Given the description of an element on the screen output the (x, y) to click on. 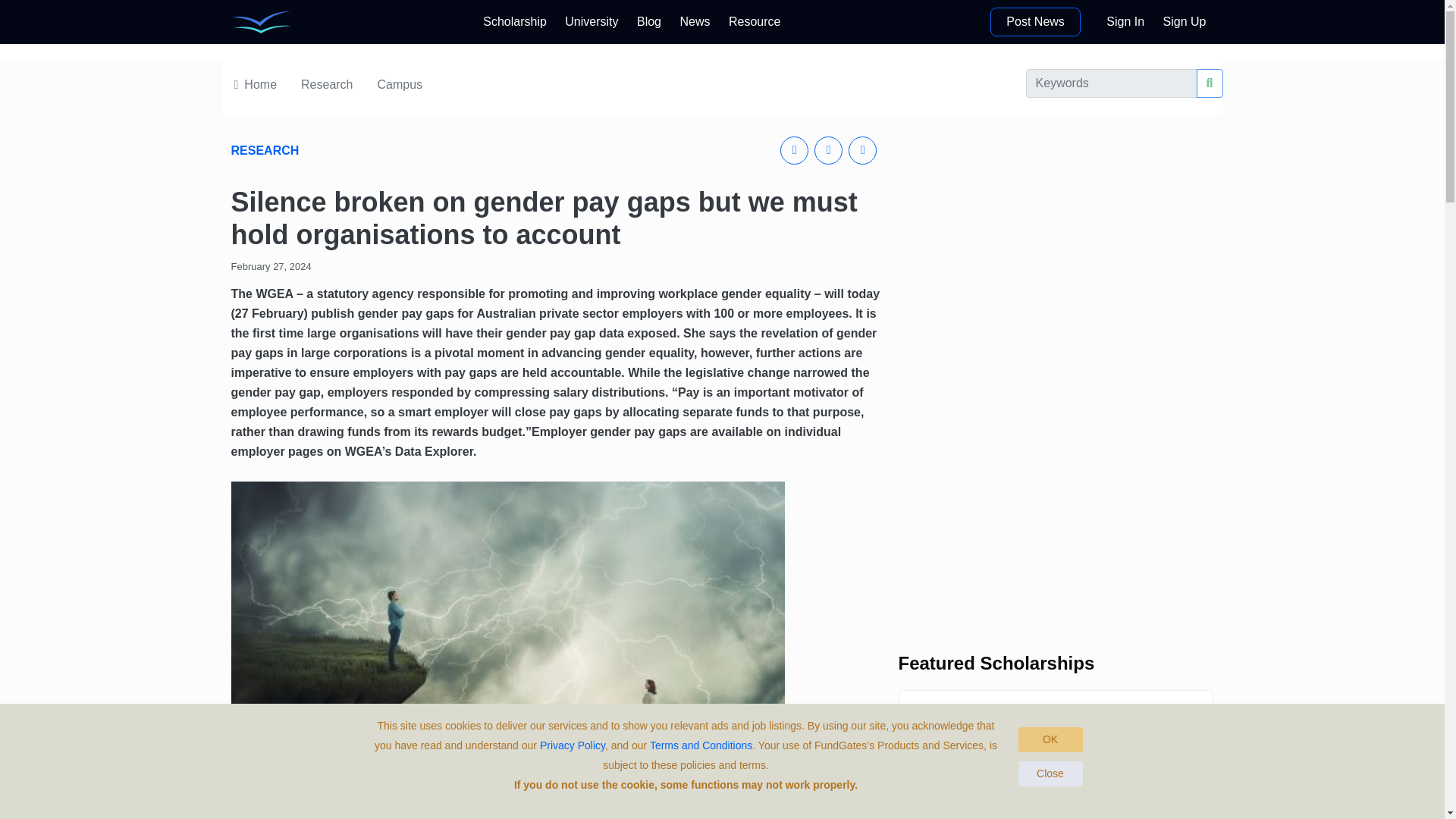
Sign In (327, 82)
Advertisement (1125, 22)
Blog (1055, 516)
RESEARCH (648, 22)
News (360, 150)
Post News (694, 22)
Scholarship (1035, 21)
University (515, 22)
Advertisement (591, 22)
Sign Up (1055, 242)
University of Sydney (1185, 22)
Edith Cowan University (941, 816)
Research (941, 743)
Campus (326, 85)
